Given the description of an element on the screen output the (x, y) to click on. 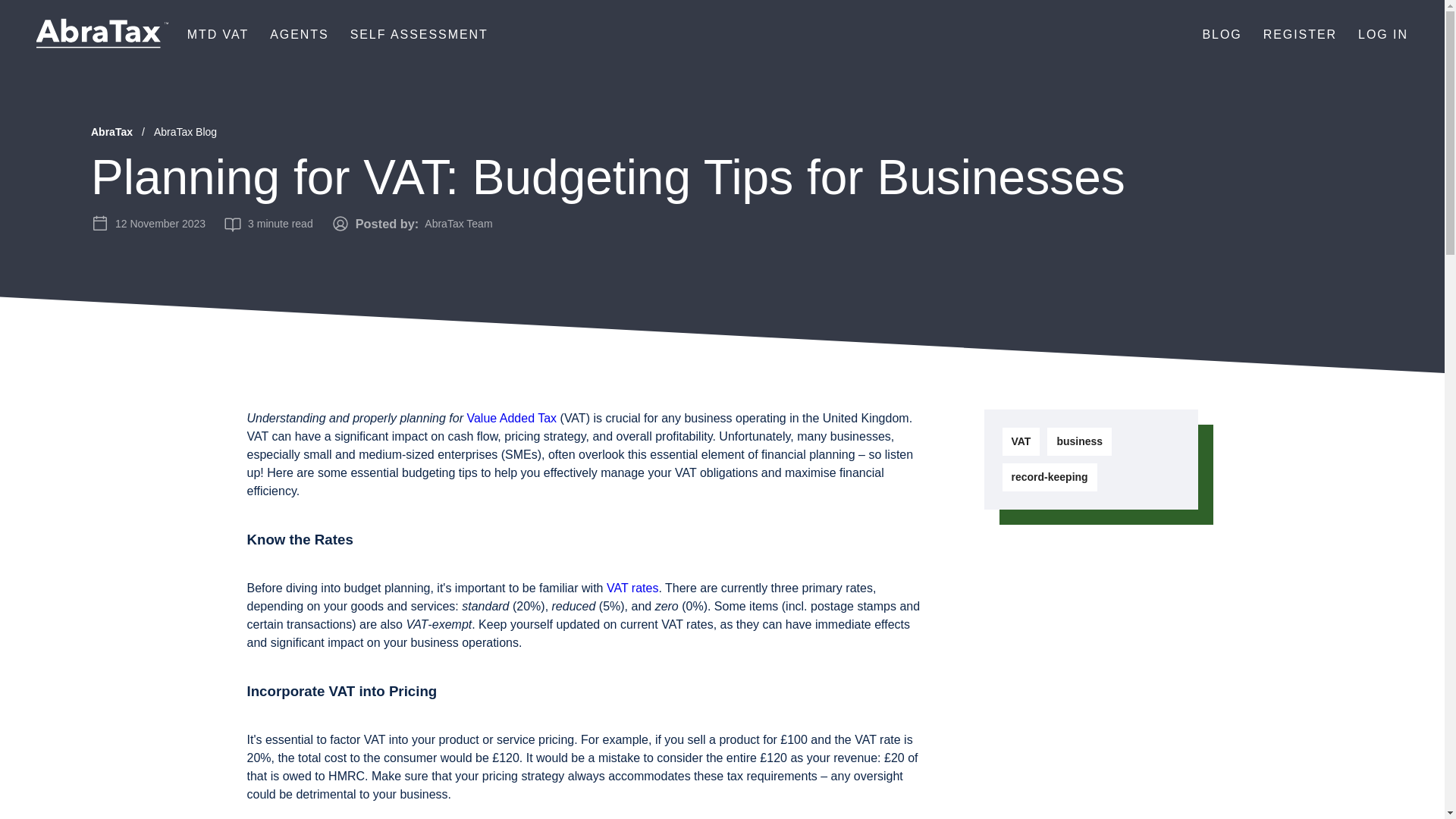
SELF ASSESSMENT (418, 34)
AbraTax Blog (185, 132)
AGENTS (299, 34)
record-keeping (1050, 477)
REGISTER (1299, 34)
VAT rates (632, 587)
business (1079, 441)
AGENTS (299, 34)
SELF ASSESSMENT (418, 34)
VAT (1022, 441)
Value Added Tax (510, 418)
LOG IN (1382, 34)
REGISTER (1299, 34)
MTD VAT (217, 34)
BLOG (1221, 34)
